Given the description of an element on the screen output the (x, y) to click on. 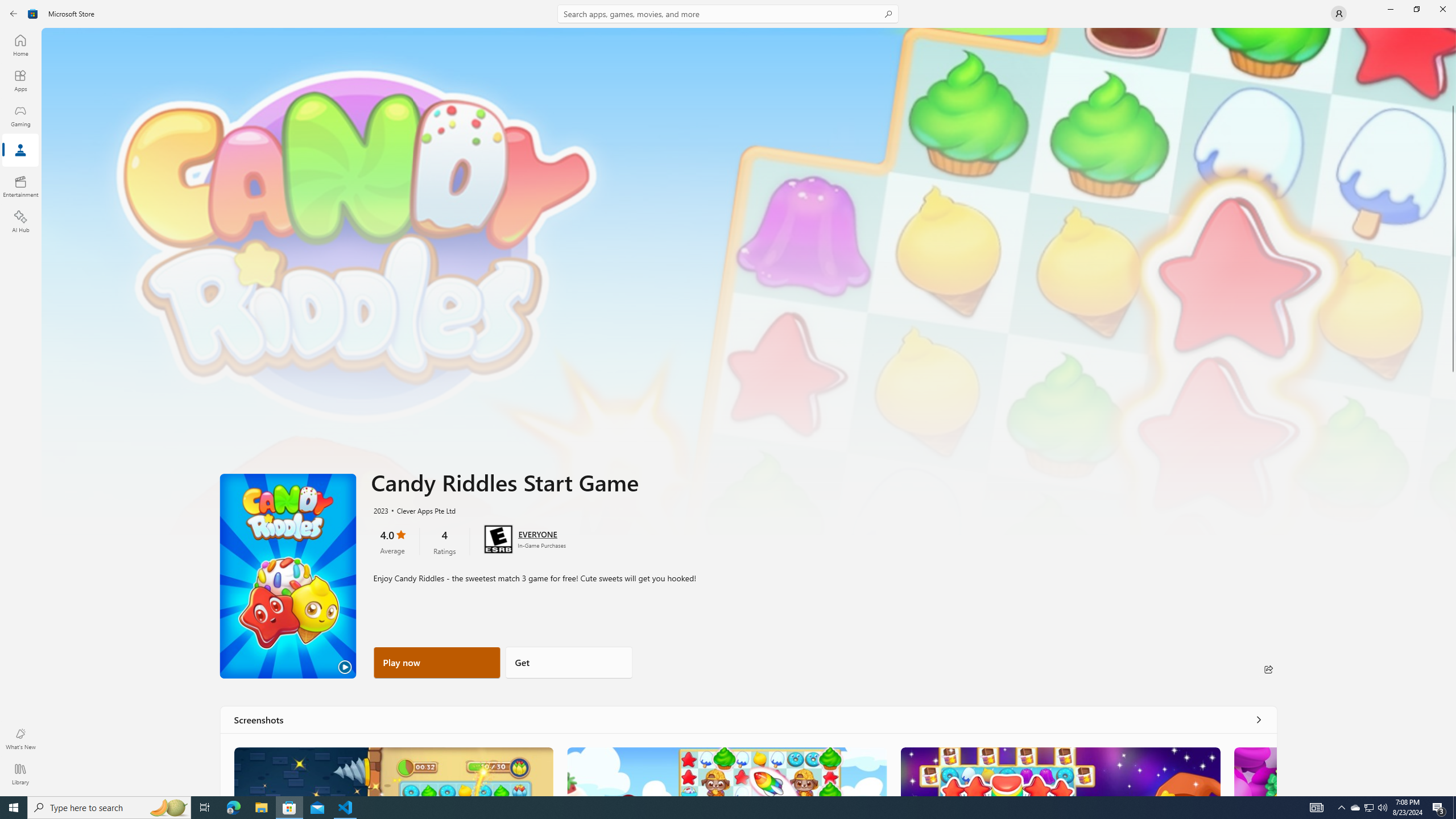
AutomationID: NavigationControl (728, 398)
Vertical Large Increase (1452, 580)
4.0 stars. Click to skip to ratings and reviews (392, 541)
See all (1258, 719)
Play Trailer (287, 575)
Clever Apps Pte Ltd (420, 510)
Get (568, 662)
Play now (436, 662)
Vertical (1452, 412)
Vertical Small Decrease (1452, 31)
